Given the description of an element on the screen output the (x, y) to click on. 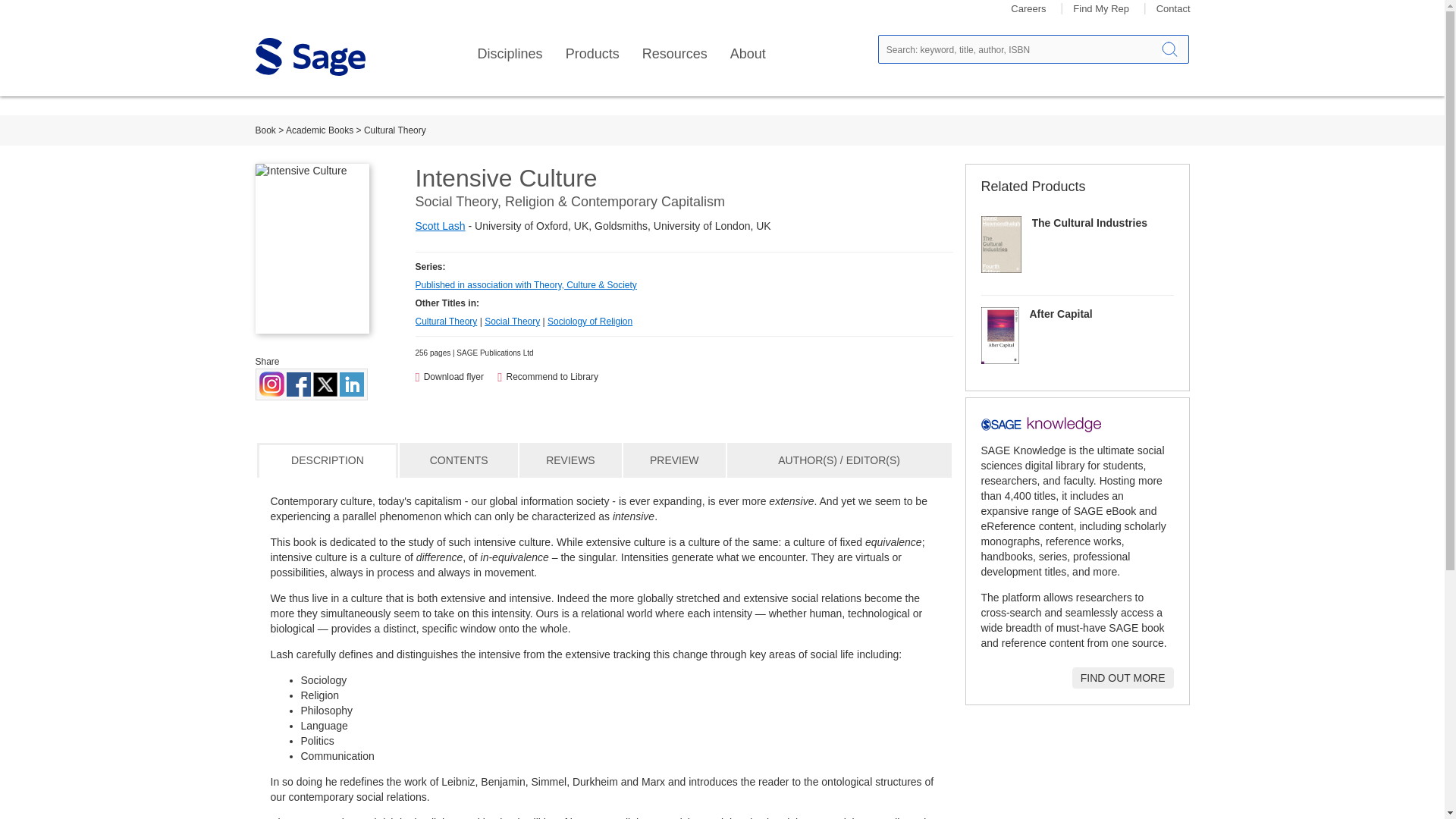
Find My Rep (1101, 8)
Contact (1173, 8)
Search (1169, 48)
Sage logo: link back to homepage (309, 56)
Disciplines (509, 53)
Careers (1027, 8)
Sage: Find my rep (1101, 8)
